Given the description of an element on the screen output the (x, y) to click on. 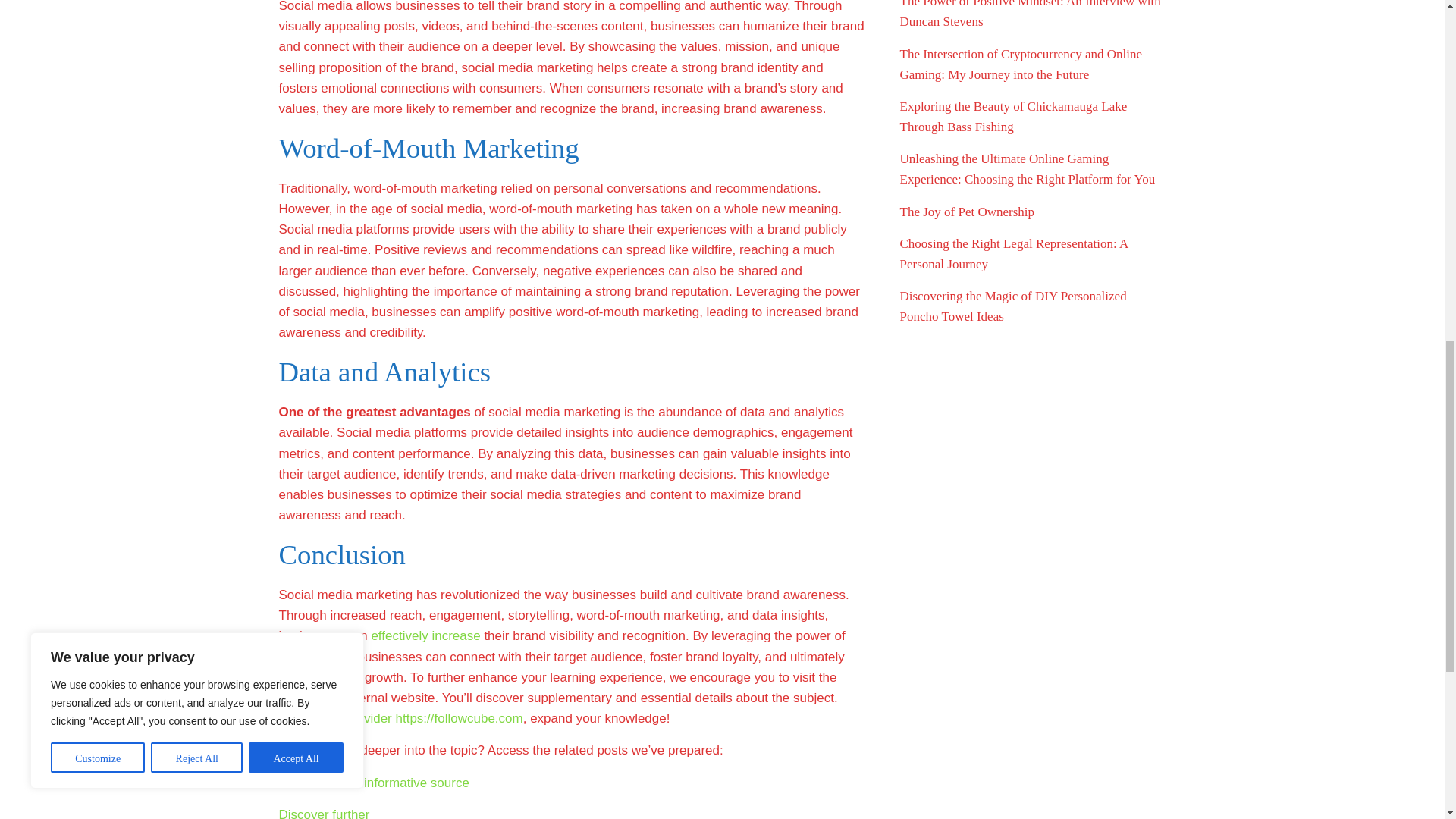
Discover further (324, 813)
effectively increase (425, 635)
Check out this informative source (373, 782)
